Given the description of an element on the screen output the (x, y) to click on. 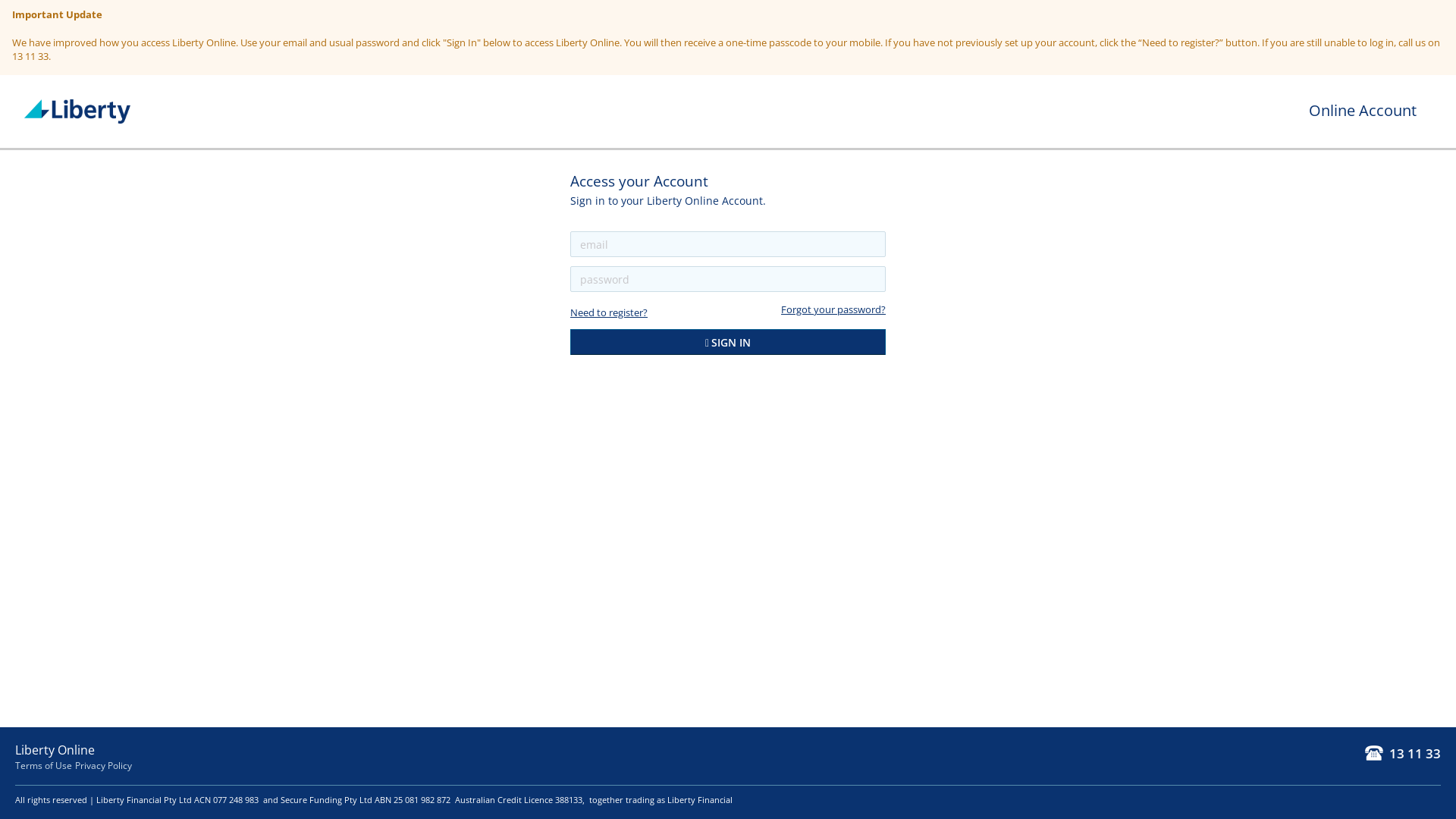
Need to register? Element type: text (608, 312)
Terms of Use Element type: text (43, 765)
13 11 33 Element type: text (1402, 753)
Forgot your password? Element type: text (833, 309)
SIGN IN Element type: text (727, 341)
Please enter a valid Email Element type: hover (727, 244)
Privacy Policy Element type: text (103, 765)
